Given the description of an element on the screen output the (x, y) to click on. 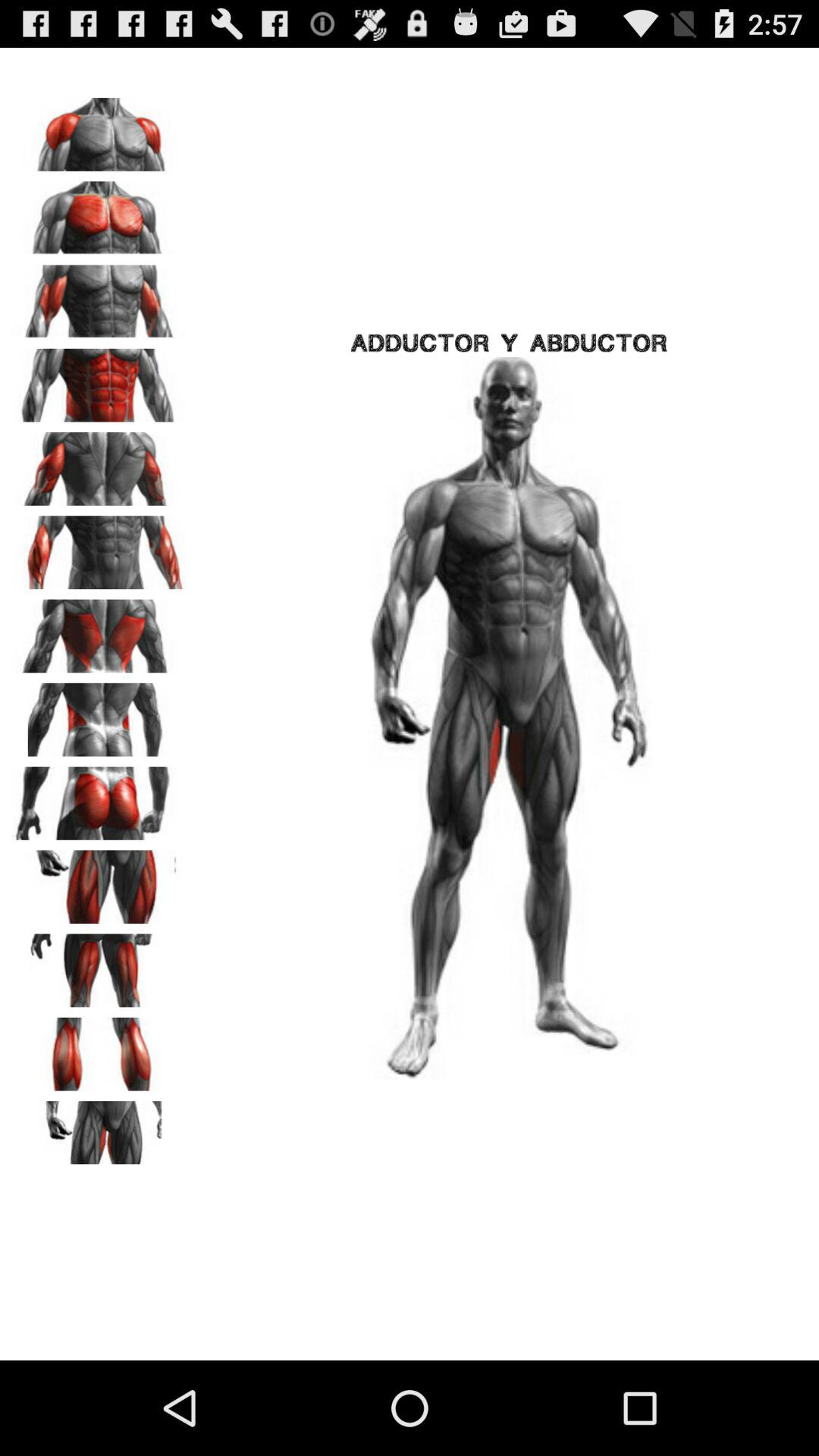
image selection (99, 630)
